Given the description of an element on the screen output the (x, y) to click on. 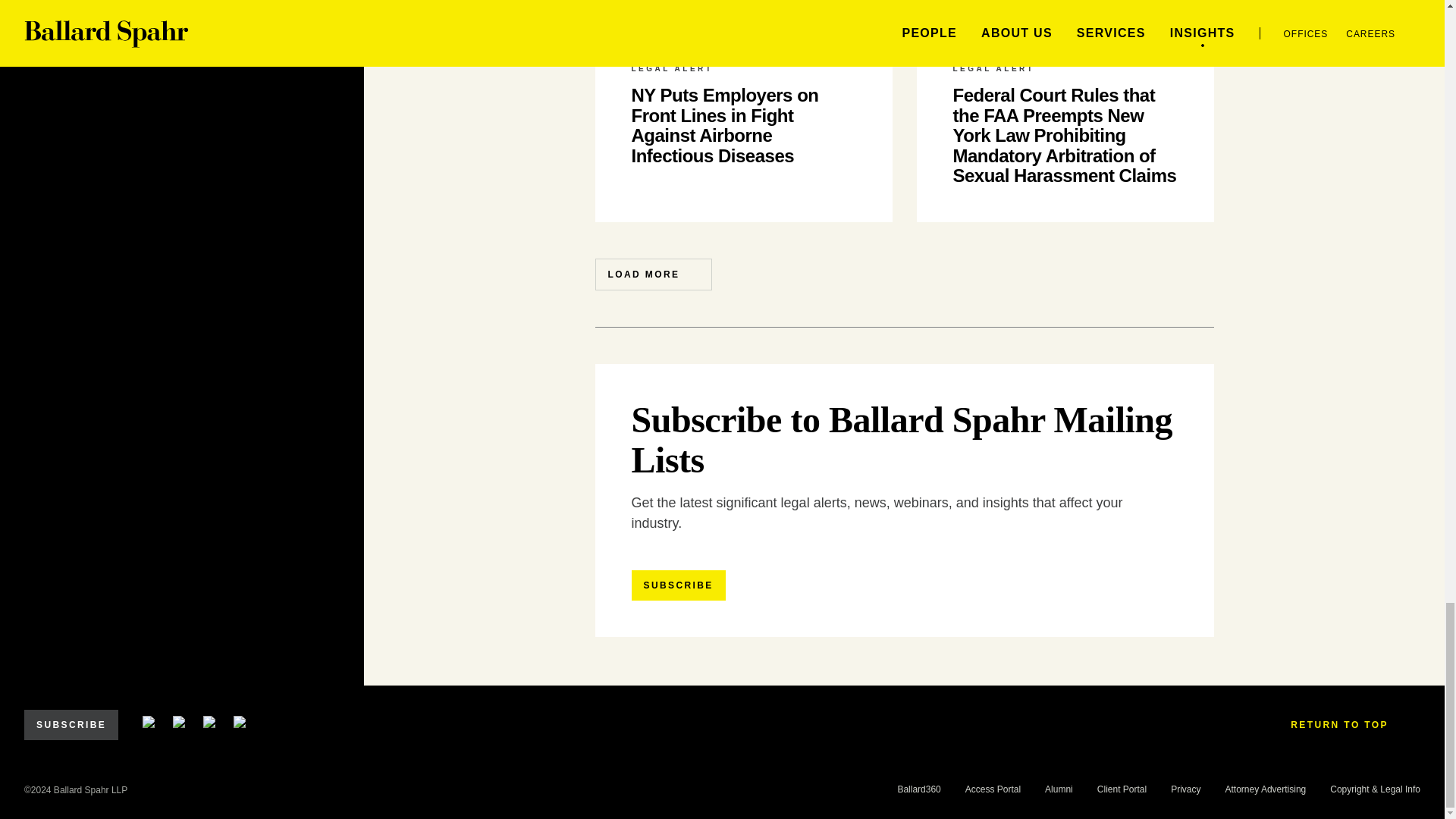
LOAD MORE (652, 274)
Access Portal (992, 788)
SUBSCRIBE (70, 725)
Ballard360 (918, 788)
Alumni (1059, 788)
SUBSCRIBE (677, 585)
Attorney Advertising (1265, 788)
Privacy (1184, 788)
RETURN TO TOP (1349, 725)
